Given the description of an element on the screen output the (x, y) to click on. 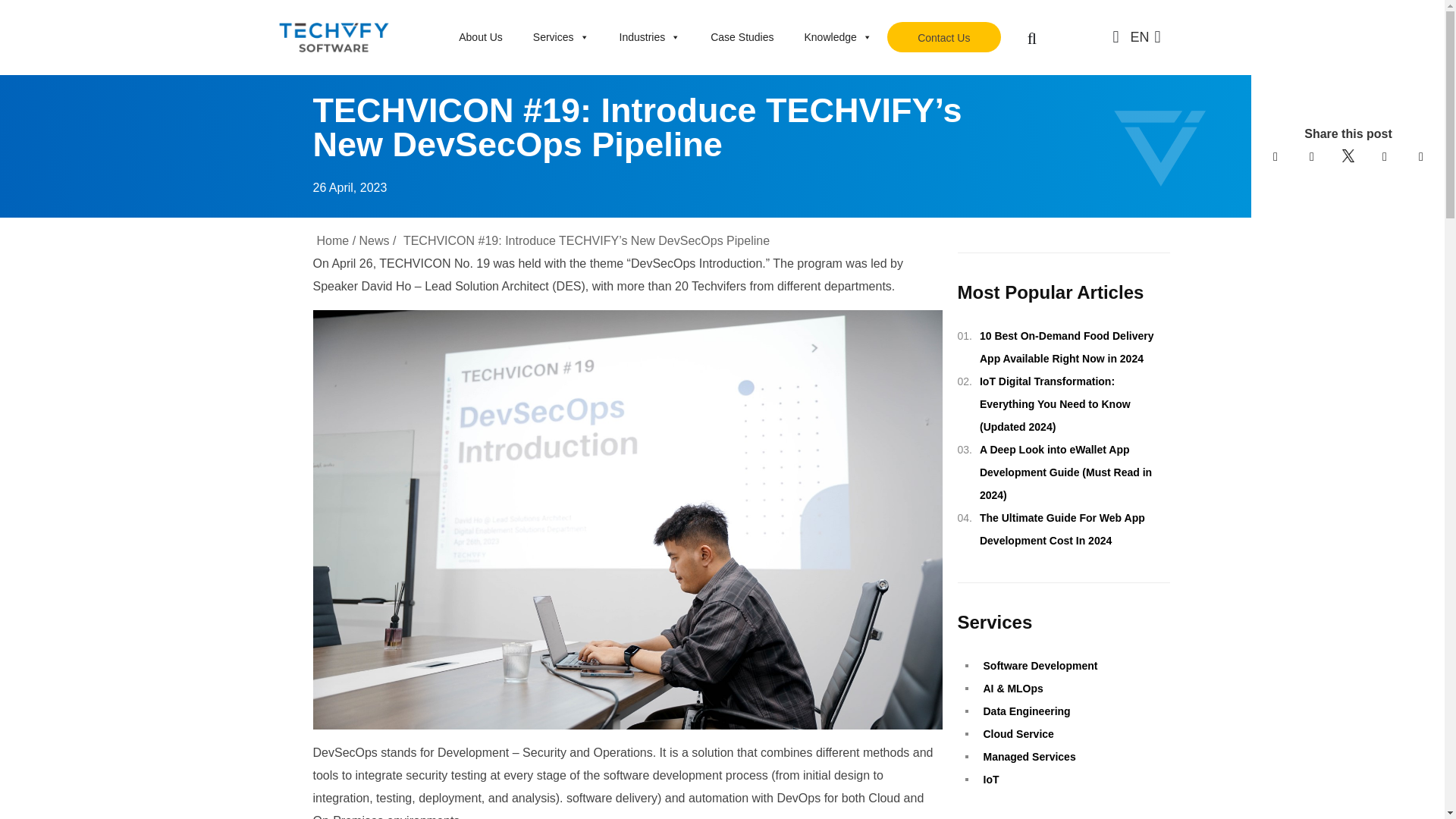
Knowledge (837, 37)
Industries (649, 37)
Privacy Policy (767, 417)
News (374, 240)
Services (561, 37)
Case Studies (742, 37)
home (333, 240)
About Us (481, 37)
